Given the description of an element on the screen output the (x, y) to click on. 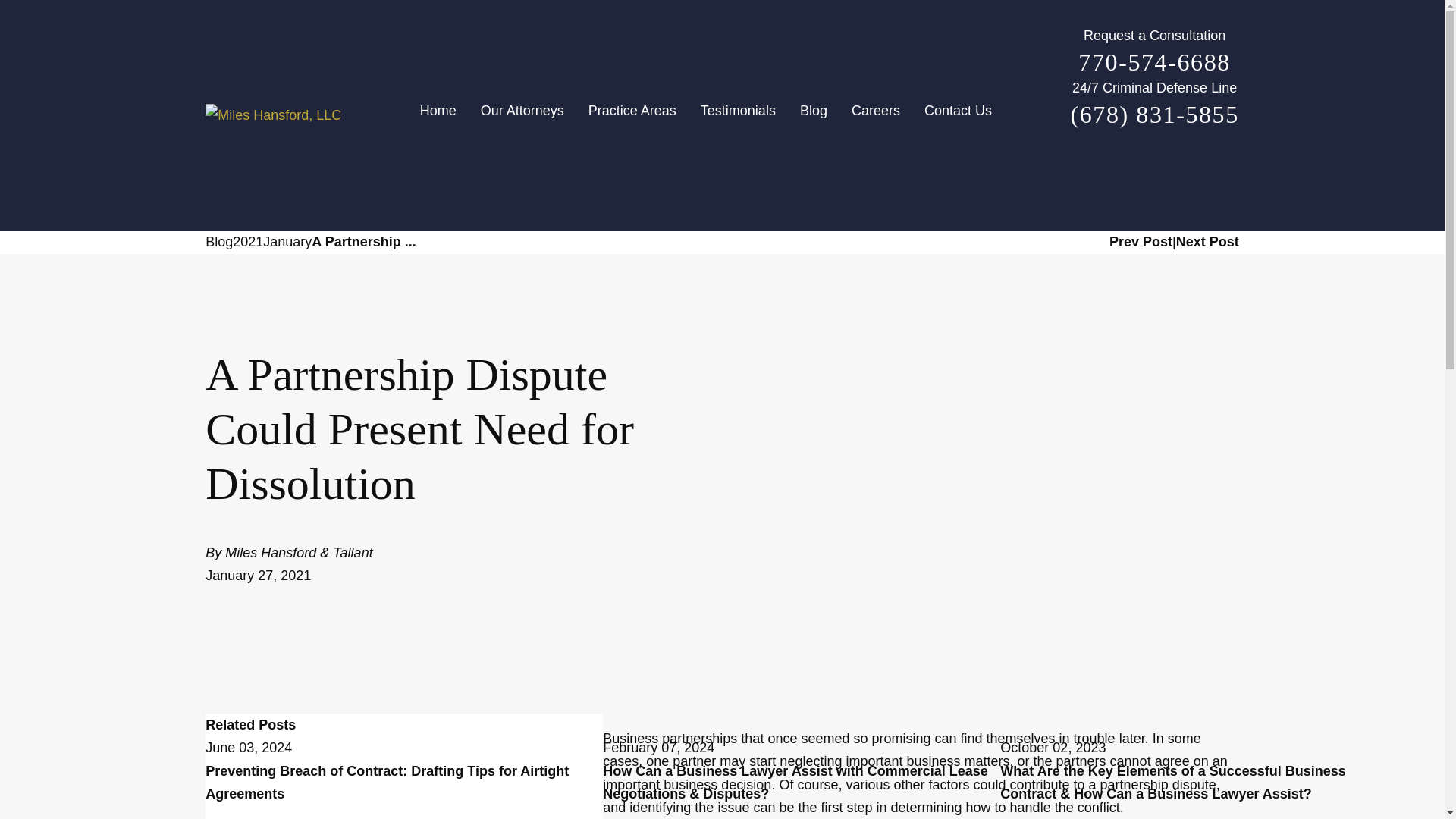
Practice Areas (632, 114)
Facebook (1107, 166)
LinkedIn (1200, 166)
Open the accessibility options menu (1423, 798)
Testimonials (737, 114)
Home (444, 114)
Our Attorneys (522, 114)
Miles Hansford, LLC (272, 115)
Blog (813, 114)
